Given the description of an element on the screen output the (x, y) to click on. 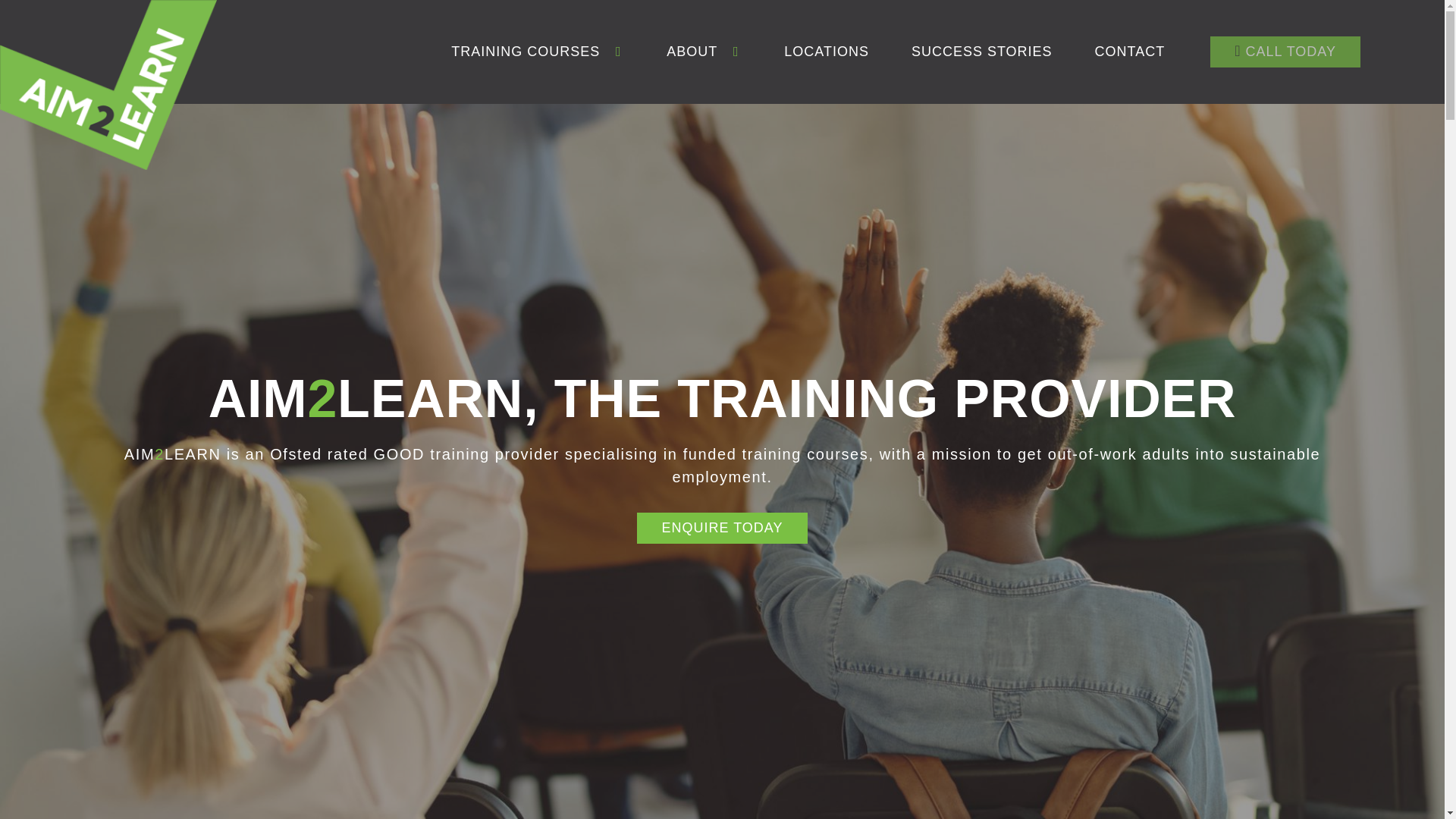
CONTACT (1130, 51)
ABOUT (691, 51)
LOCATIONS (826, 51)
TRAINING COURSES (525, 51)
SUCCESS STORIES (981, 51)
CALL TODAY (1284, 51)
ENQUIRE TODAY (721, 527)
